Given the description of an element on the screen output the (x, y) to click on. 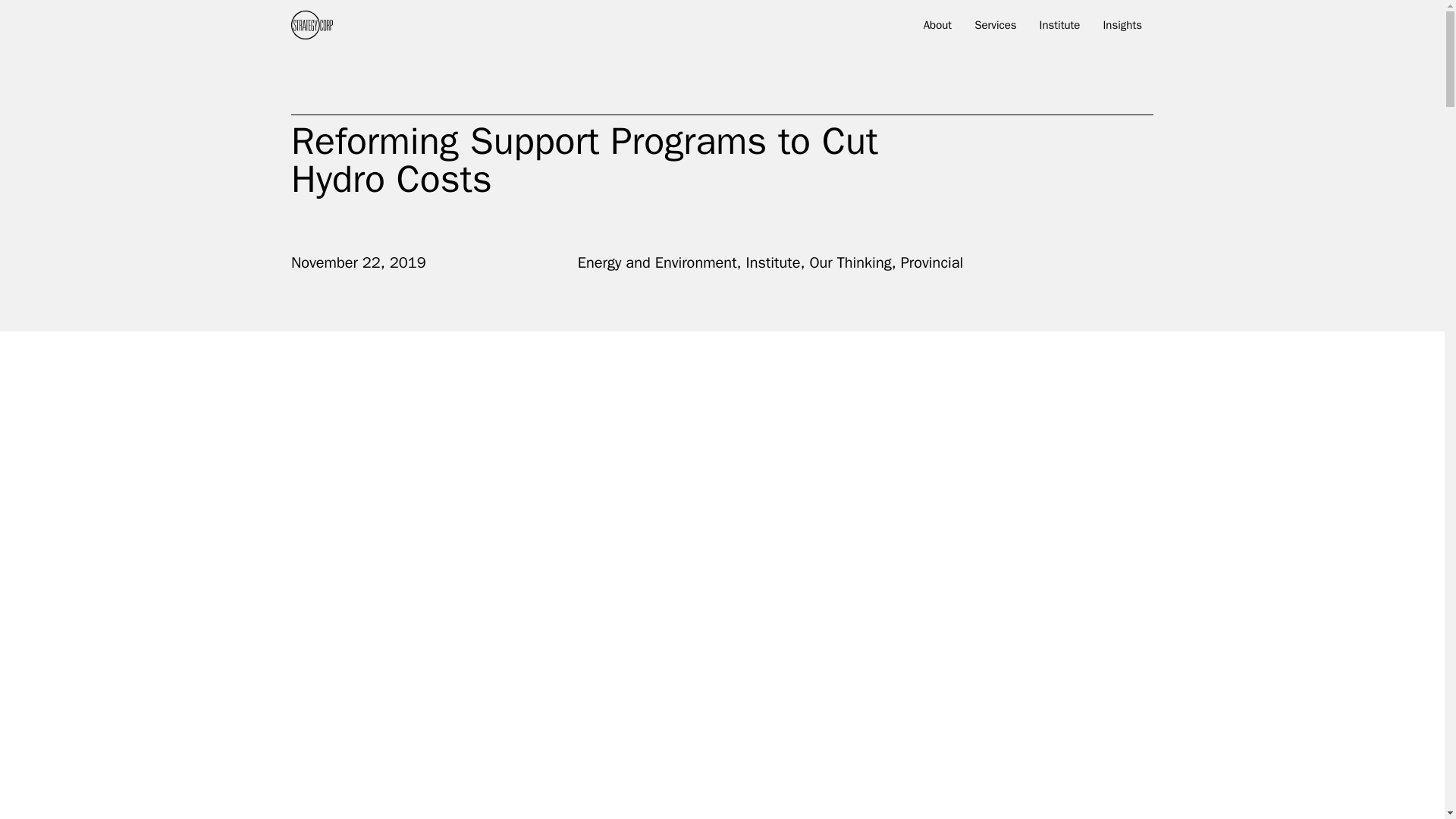
Our Thinking (850, 262)
Insights (1121, 28)
Provincial (932, 262)
Institute (1059, 28)
Services (994, 28)
Energy and Environment (657, 262)
Institute (772, 262)
About (937, 28)
